Given the description of an element on the screen output the (x, y) to click on. 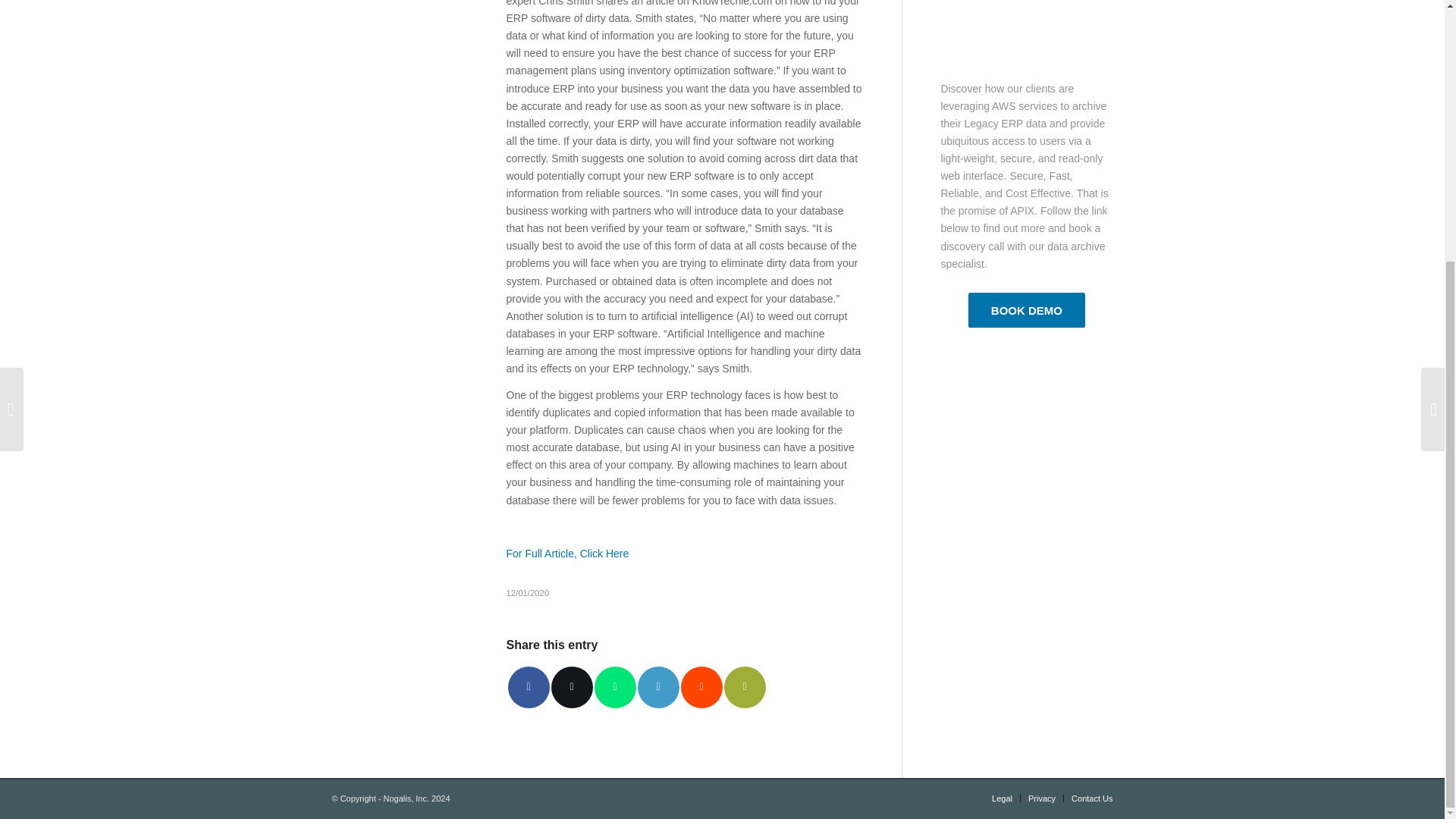
Privacy (1041, 798)
Contact Us (1091, 798)
Book a time to discuss your project with an expert (1026, 310)
BOOK DEMO (1026, 310)
Legal (1001, 798)
For Full Article, Click Here (567, 553)
